Given the description of an element on the screen output the (x, y) to click on. 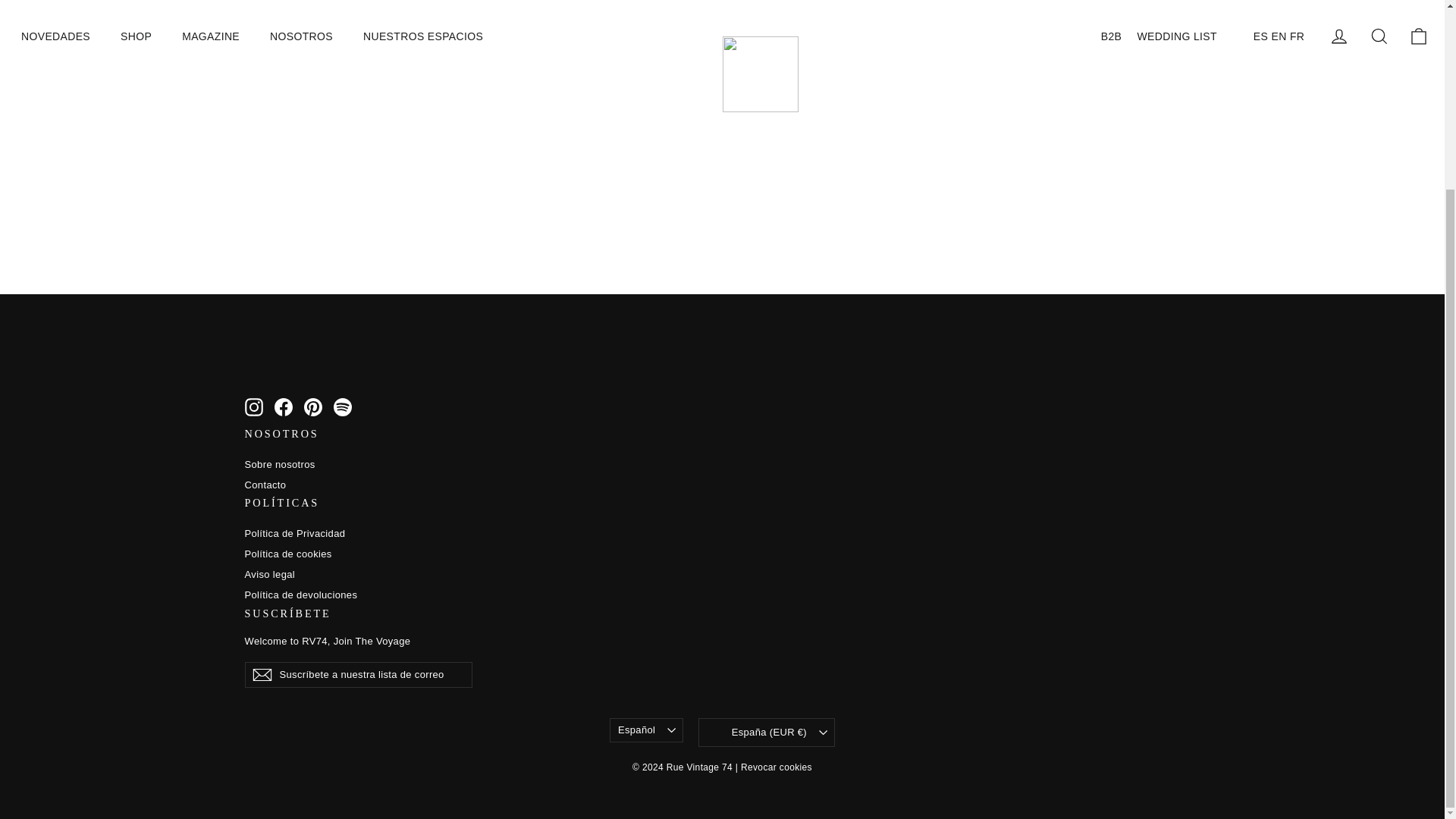
instagram (253, 407)
Rue Vintage 74 en Snapchat (342, 407)
Rue Vintage 74 en Facebook (283, 407)
icon-email (260, 674)
Rue Vintage 74 en Pinterest (311, 407)
Rue Vintage 74 en Instagram (253, 407)
